Given the description of an element on the screen output the (x, y) to click on. 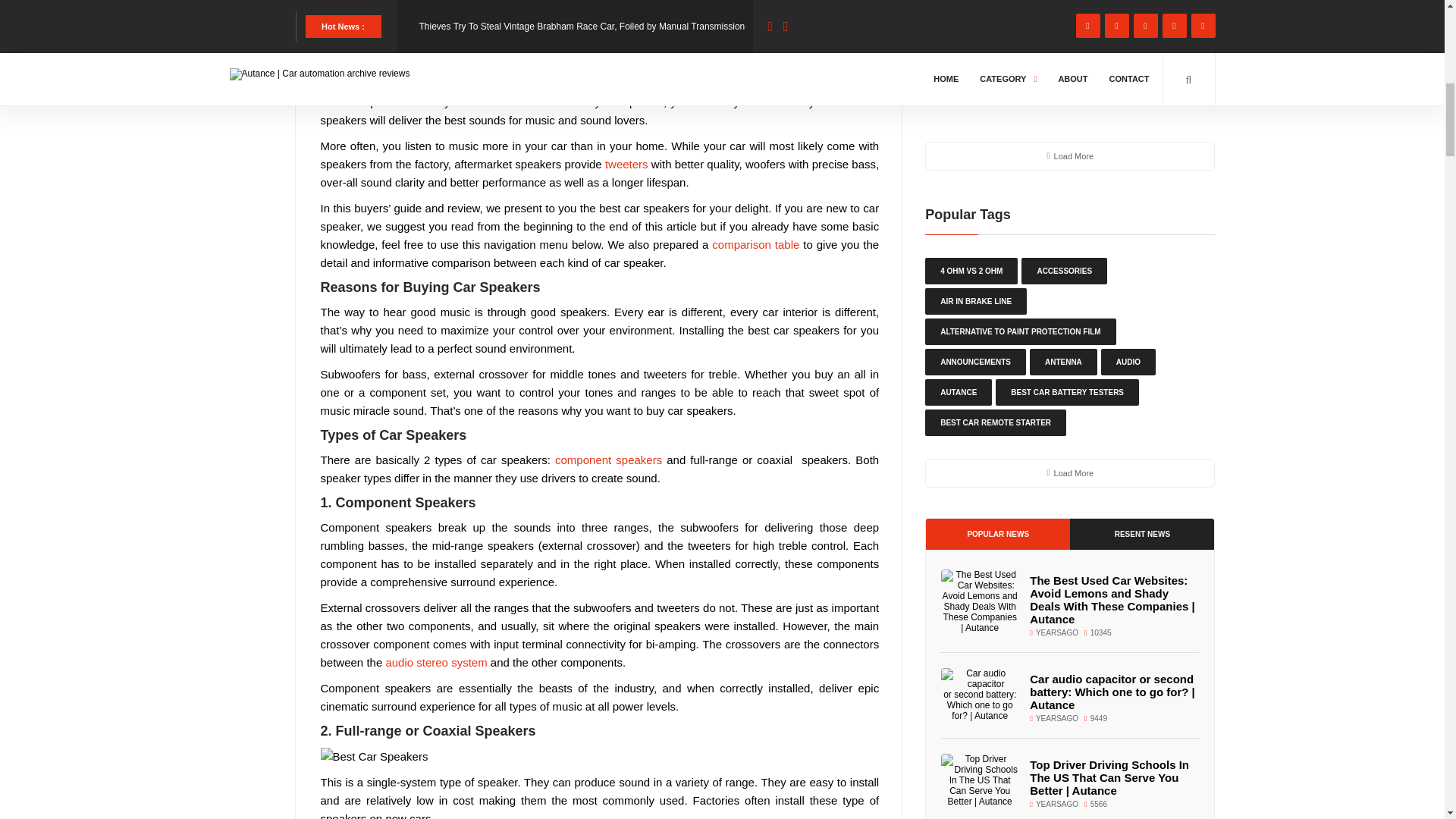
comparison table (755, 244)
audio stereo system (435, 662)
15 (477, 16)
component speakers (608, 459)
Full-range speakers (374, 756)
PRINT (802, 29)
tweeters (626, 164)
